Given the description of an element on the screen output the (x, y) to click on. 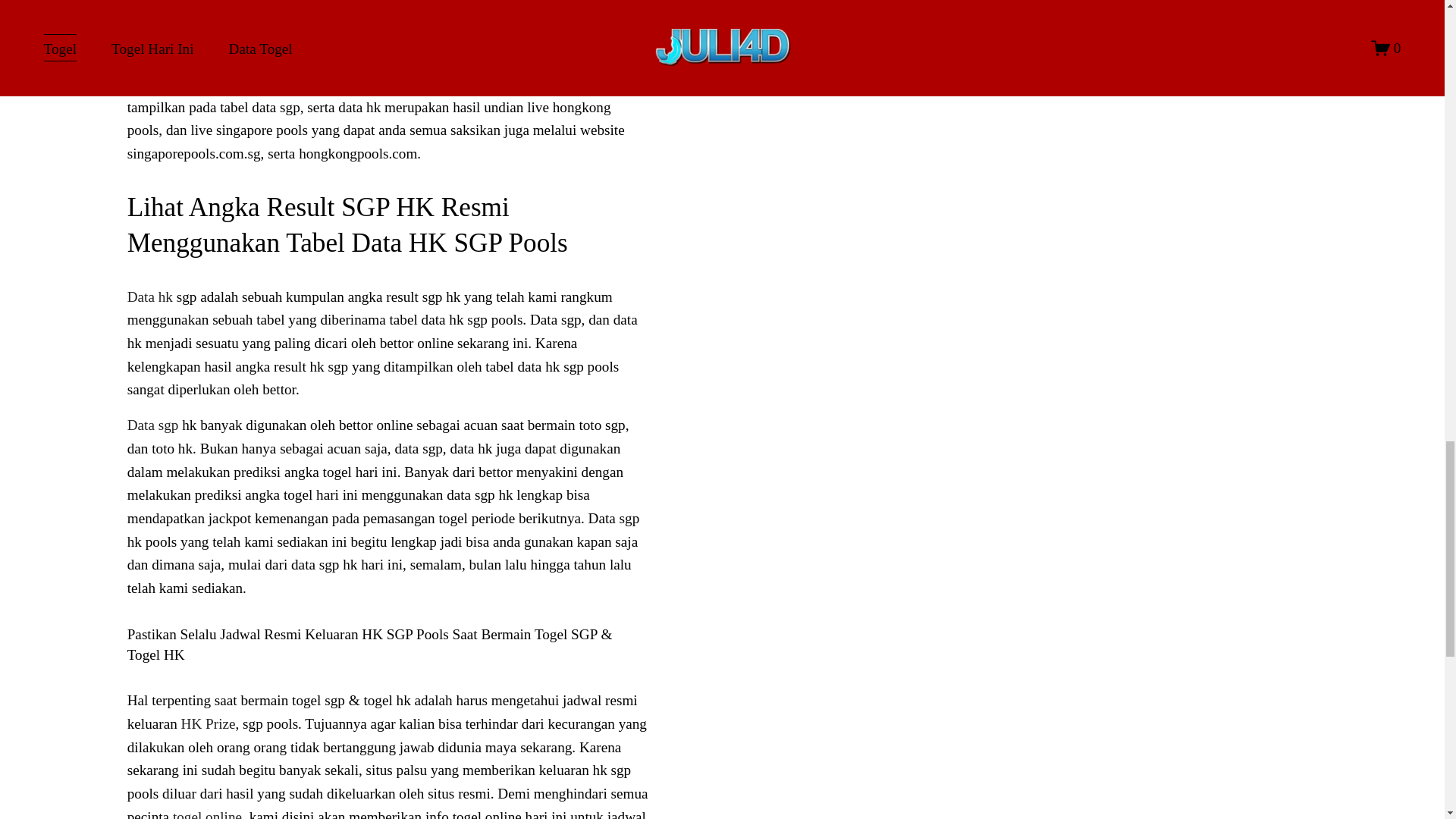
Data sgp (153, 424)
Keluaran sgp (166, 13)
togel online (207, 814)
Data hk (150, 296)
HK Prize (207, 723)
